Given the description of an element on the screen output the (x, y) to click on. 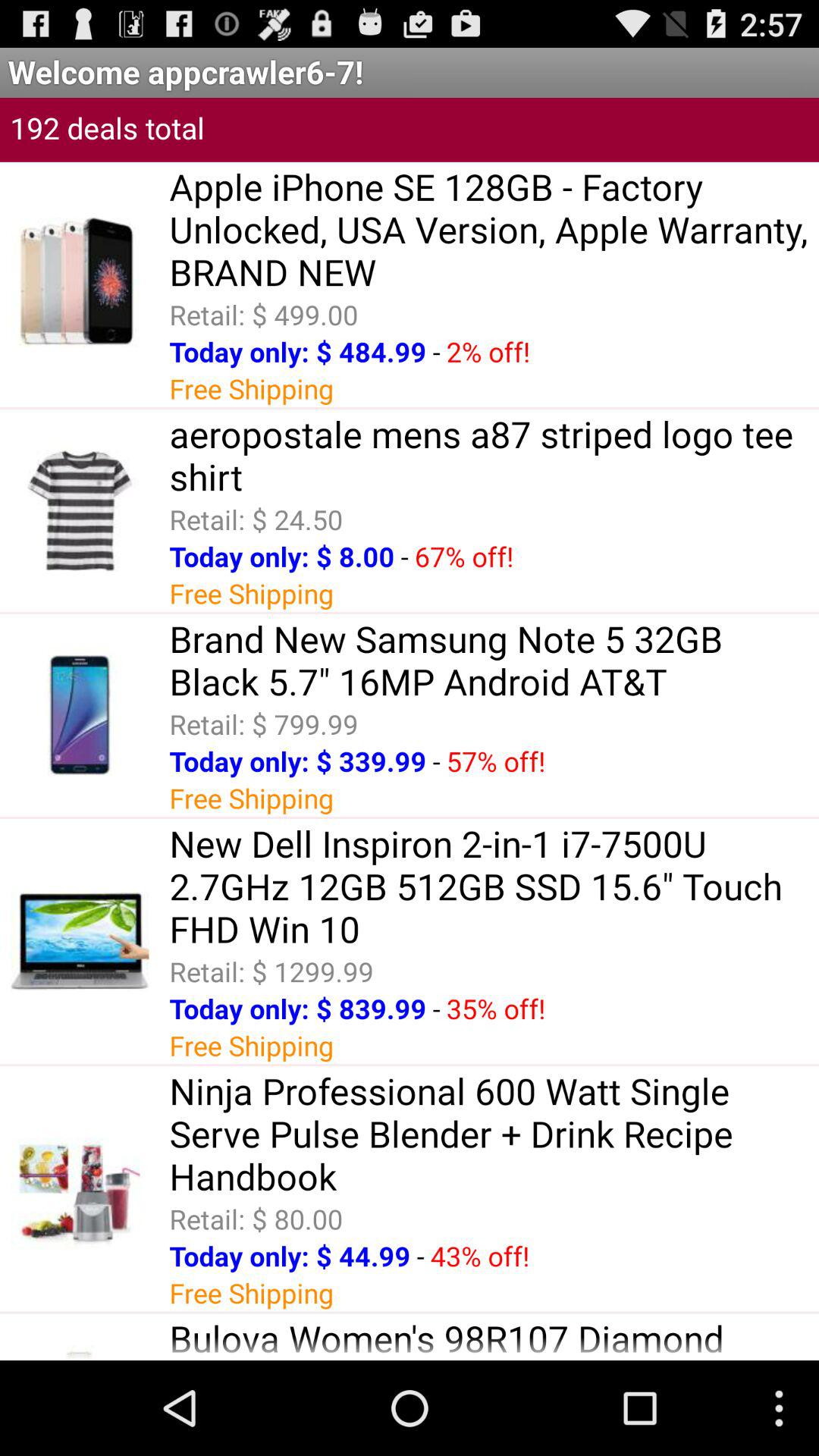
click app to the right of the today only 484 item (436, 351)
